Given the description of an element on the screen output the (x, y) to click on. 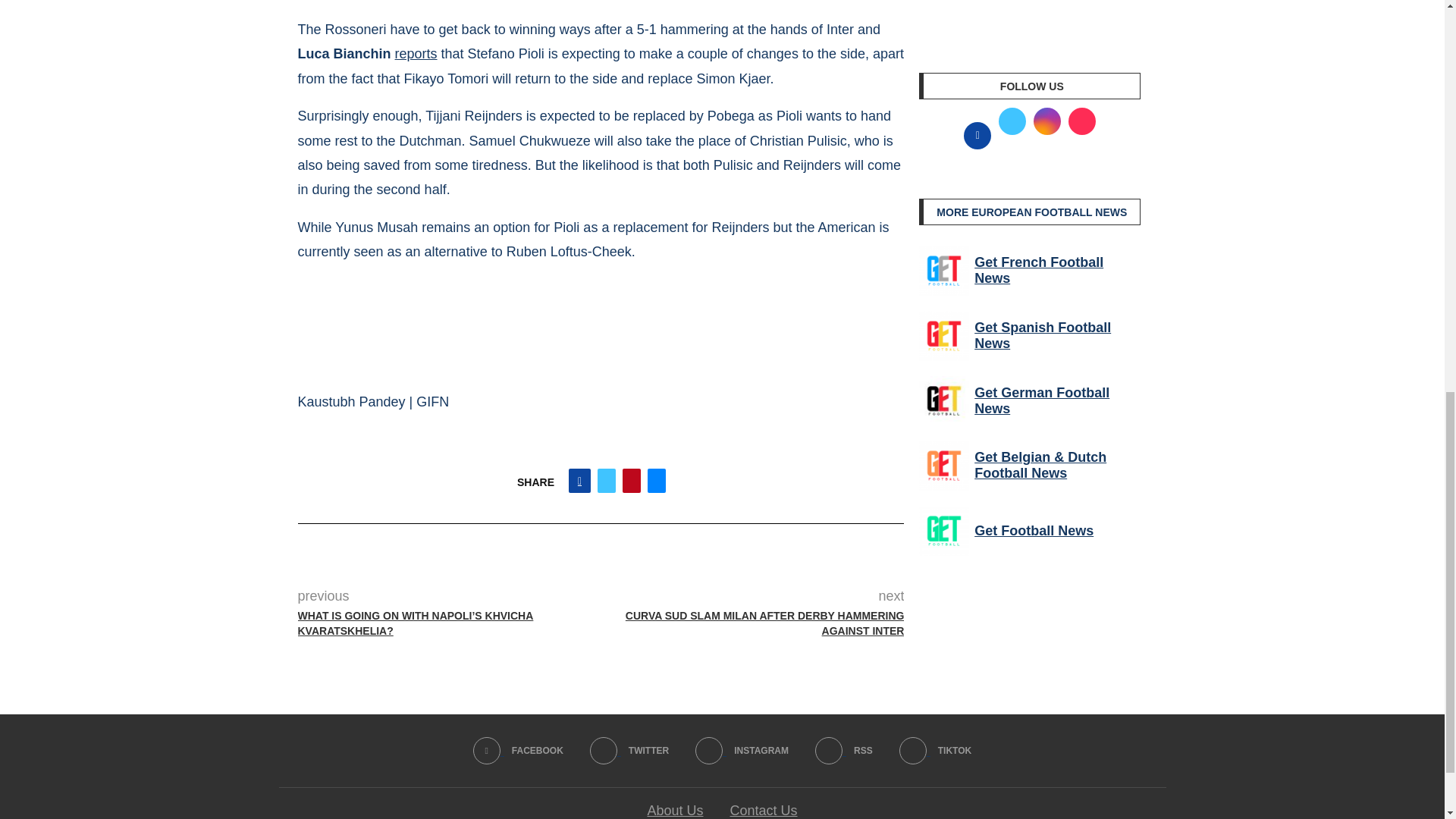
Get Football News (943, 531)
Get Spanish Football News (943, 336)
Get French Football News (943, 270)
Get German Football News (943, 400)
